Given the description of an element on the screen output the (x, y) to click on. 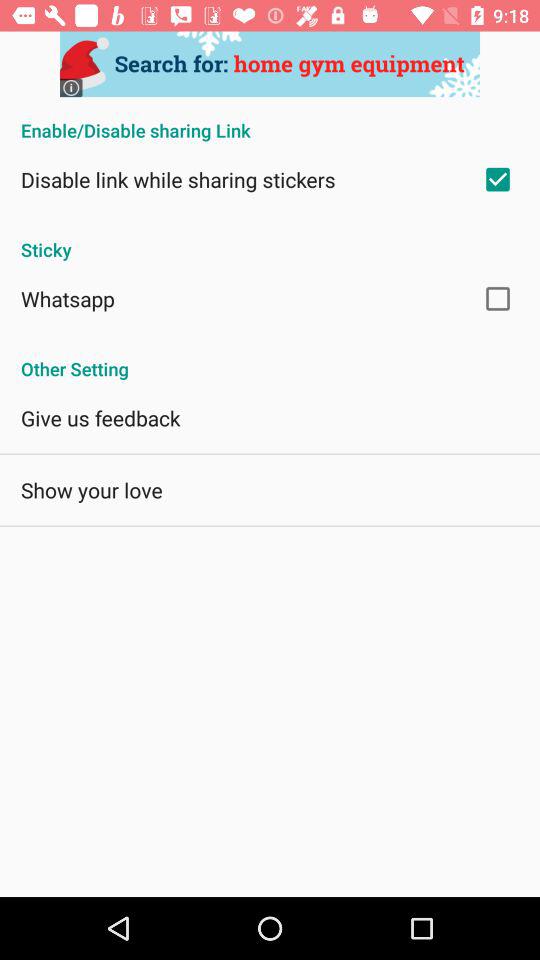
click enable disable sharing item (270, 119)
